Given the description of an element on the screen output the (x, y) to click on. 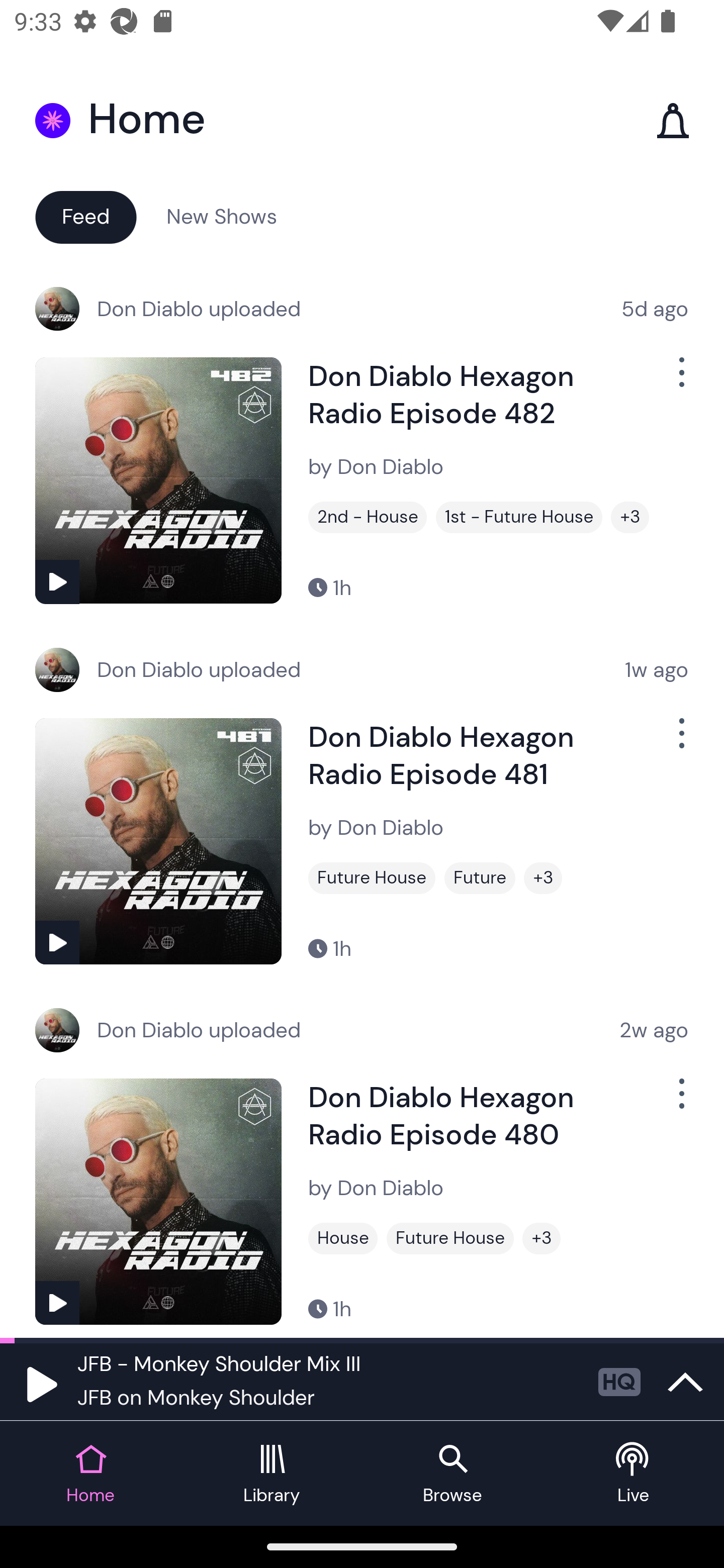
Feed (85, 216)
New Shows (221, 216)
Show Options Menu Button (679, 379)
2nd - House (367, 517)
1st - Future House (518, 517)
Show Options Menu Button (679, 740)
Future House (371, 877)
Future (479, 877)
Show Options Menu Button (679, 1101)
House (342, 1238)
Future House (450, 1238)
Home tab Home (90, 1473)
Library tab Library (271, 1473)
Browse tab Browse (452, 1473)
Live tab Live (633, 1473)
